Given the description of an element on the screen output the (x, y) to click on. 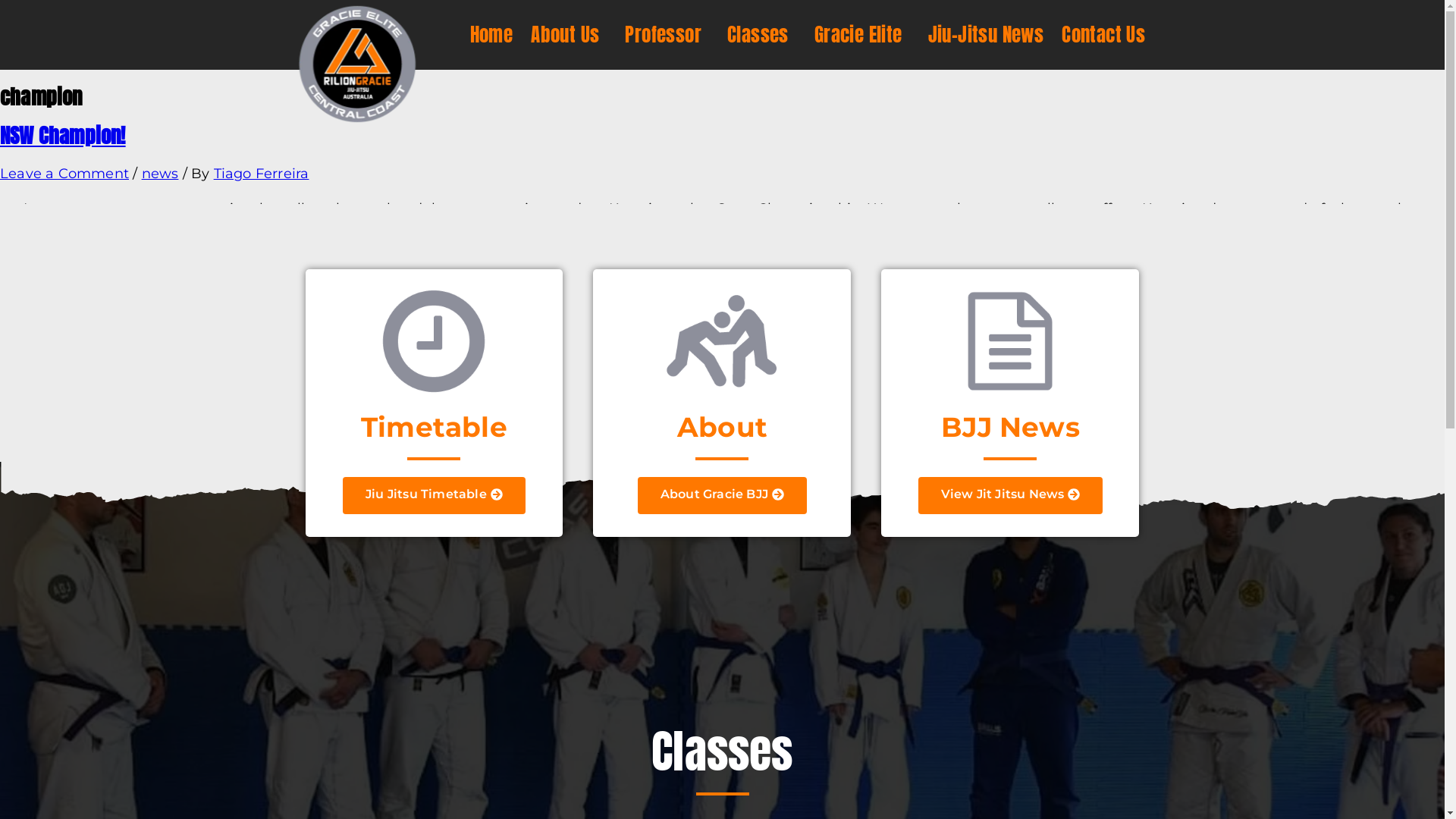
Jiu Jitsu Timetable Element type: text (433, 495)
NSW Champion! Element type: text (62, 134)
About Element type: text (722, 426)
Home Element type: text (491, 34)
About Us Element type: text (568, 34)
Gracie Elite Element type: text (862, 34)
Contact Us Element type: text (1103, 34)
Professor Element type: text (666, 34)
Tiago Ferreira Element type: text (261, 173)
View Jit Jitsu News Element type: text (1010, 495)
About Gracie BJJ Element type: text (721, 495)
Classes Element type: text (761, 34)
news Element type: text (159, 173)
Jiu-Jitsu News Element type: text (986, 34)
Leave a Comment Element type: text (64, 173)
Timetable Element type: text (433, 426)
BJJ News Element type: text (1010, 426)
